Given the description of an element on the screen output the (x, y) to click on. 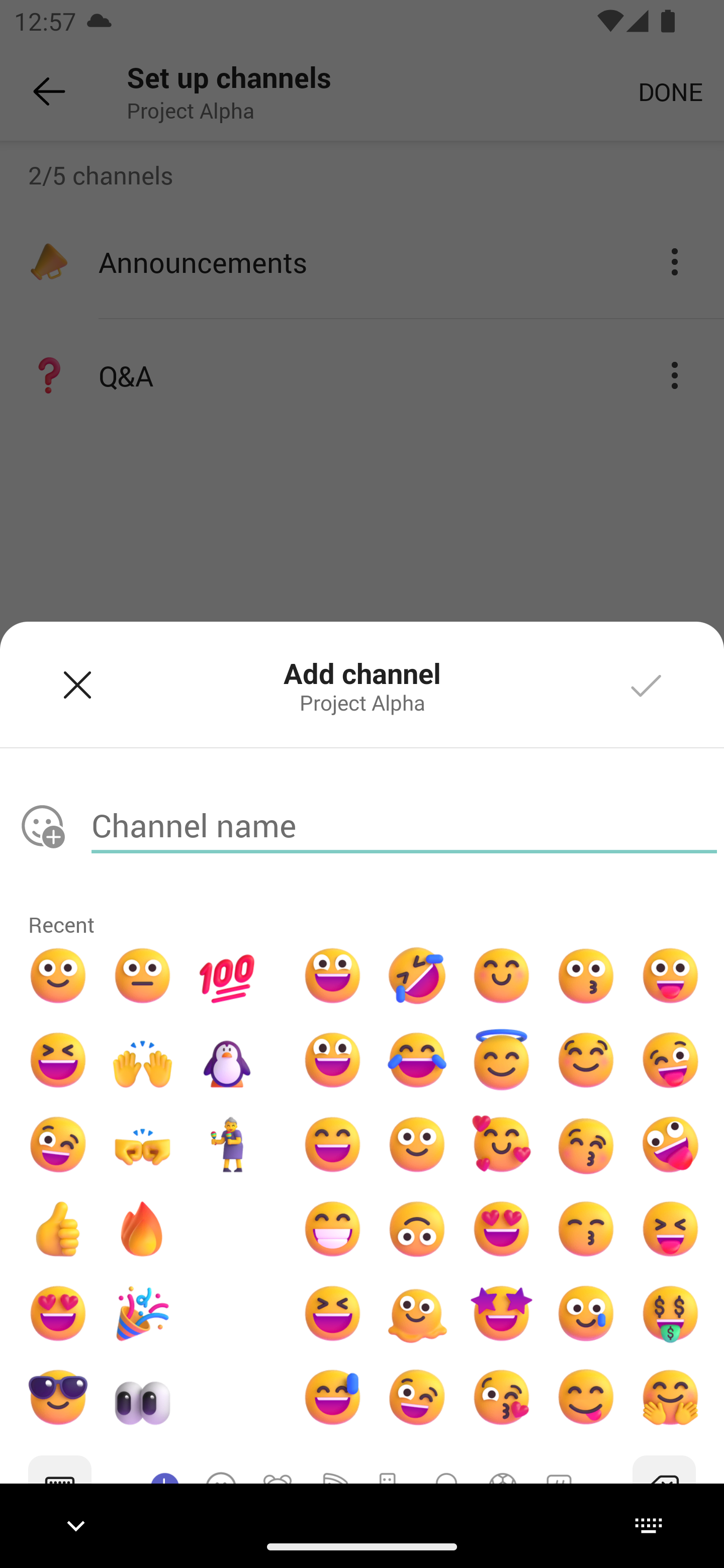
Dismiss (76, 684)
Add channel (646, 684)
No emoji selected (42, 826)
Channel name (404, 825)
Smile emoji (57, 975)
Speechless emoji (142, 975)
Hundred points emoji (226, 975)
Grinning face with big eyes emoji (332, 975)
Rolling on the floor laughing emoji (416, 975)
Smile eyes emoji (501, 975)
Kiss emoji (585, 975)
Face with tongue emoji (670, 975)
Laugh emoji (57, 1060)
Hands celebrating emoji (142, 1060)
Dancing penguin emoji (226, 1060)
Happy face emoji (332, 1060)
Crying with laughter emoji (416, 1060)
Angel emoji (501, 1060)
Mmmmm… emoji (585, 1060)
Winking tongue out emoji (670, 1060)
Wink emoji (57, 1144)
Fist bump emoji (142, 1144)
Dancing gran emoji (226, 1144)
Grinning face with smiling eyes emoji (332, 1144)
Smile emoji (416, 1144)
In love emoji (501, 1144)
Kissing face with closed eyes emoji (585, 1144)
Zany face emoji (670, 1144)
Yes emoji (57, 1228)
Fire emoji (142, 1228)
Beaming face with smiling eyes emoji (332, 1228)
Upside down face emoji (416, 1228)
Heart eyes emoji (501, 1228)
Kissing face with smiling eyes emoji (585, 1228)
Squinting face with tongue emoji (670, 1228)
Heart eyes emoji (57, 1313)
Party popper emoji (142, 1313)
Laugh emoji (332, 1313)
Melting face emoji (416, 1313)
Star eyes emoji (501, 1313)
Smiling face with tear emoji (585, 1313)
Money mouth face emoji (670, 1313)
Cool emoji (57, 1397)
Eyes emoji (142, 1397)
Sweat grinning emoji (332, 1397)
Wink emoji (416, 1397)
Face blowing a kiss emoji (501, 1397)
Cheeky emoji (585, 1397)
Hugging face emoji (670, 1397)
